Given the description of an element on the screen output the (x, y) to click on. 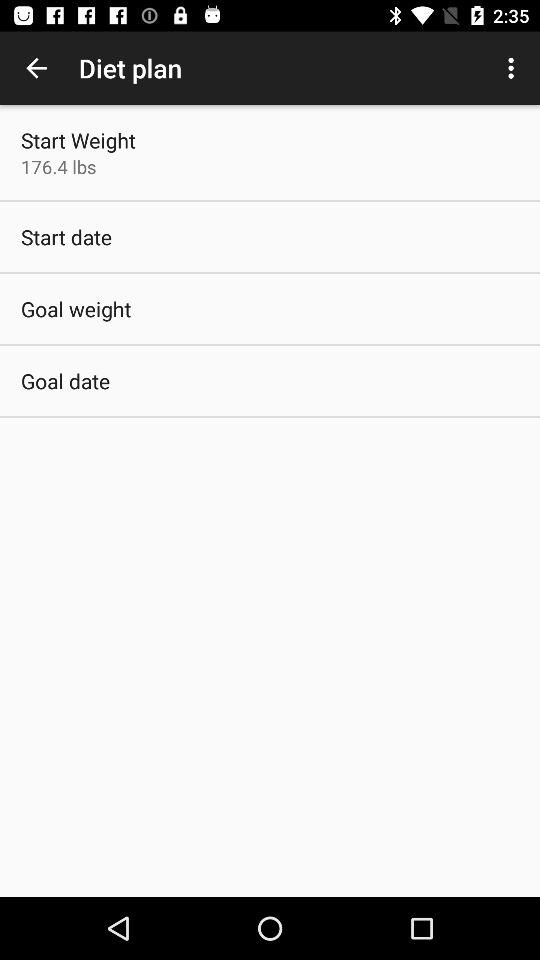
turn on item above the start weight icon (36, 68)
